Given the description of an element on the screen output the (x, y) to click on. 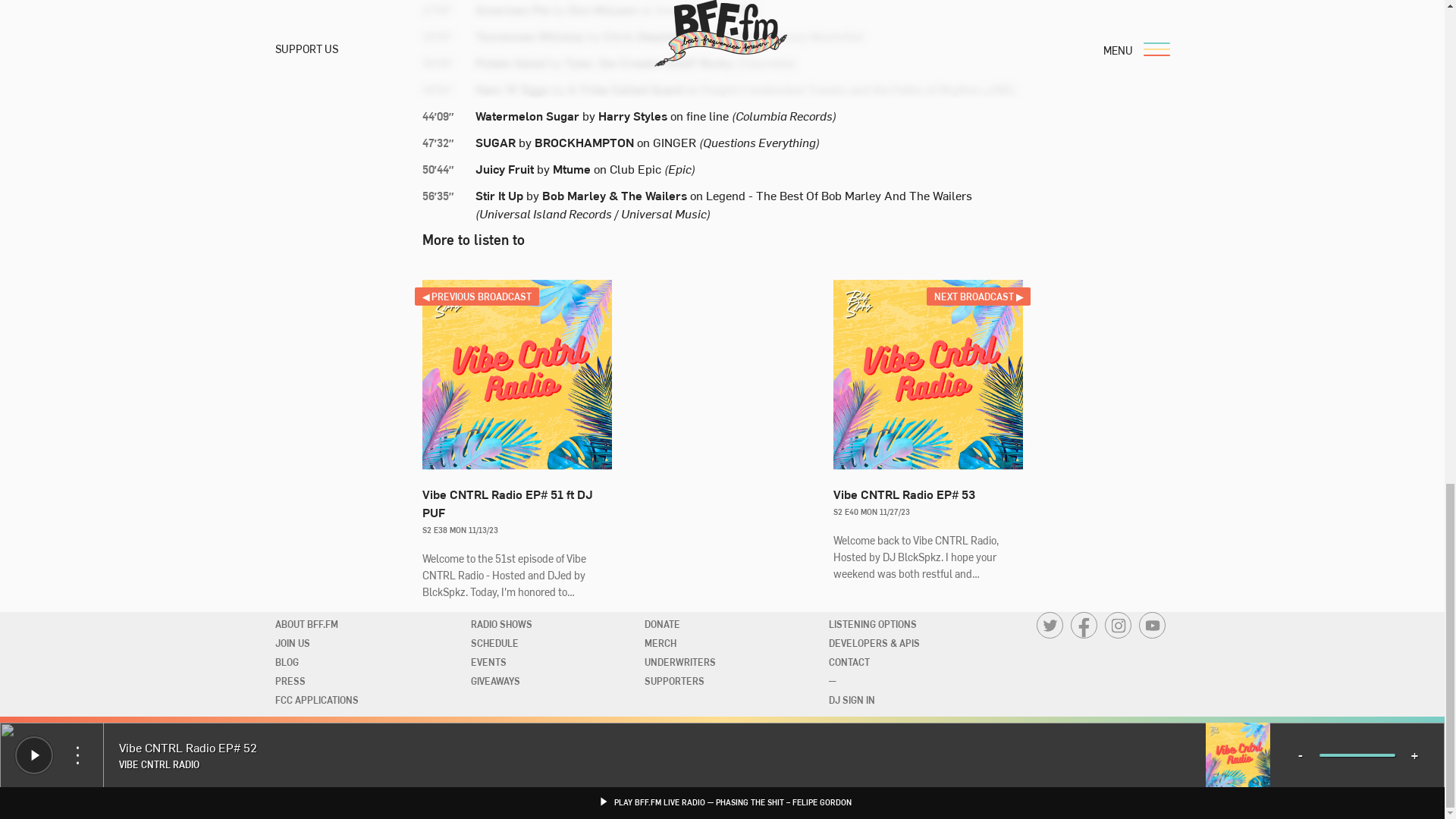
3:17:05pm (448, 10)
3:25:55pm (448, 36)
3:36:59pm (448, 63)
